Given the description of an element on the screen output the (x, y) to click on. 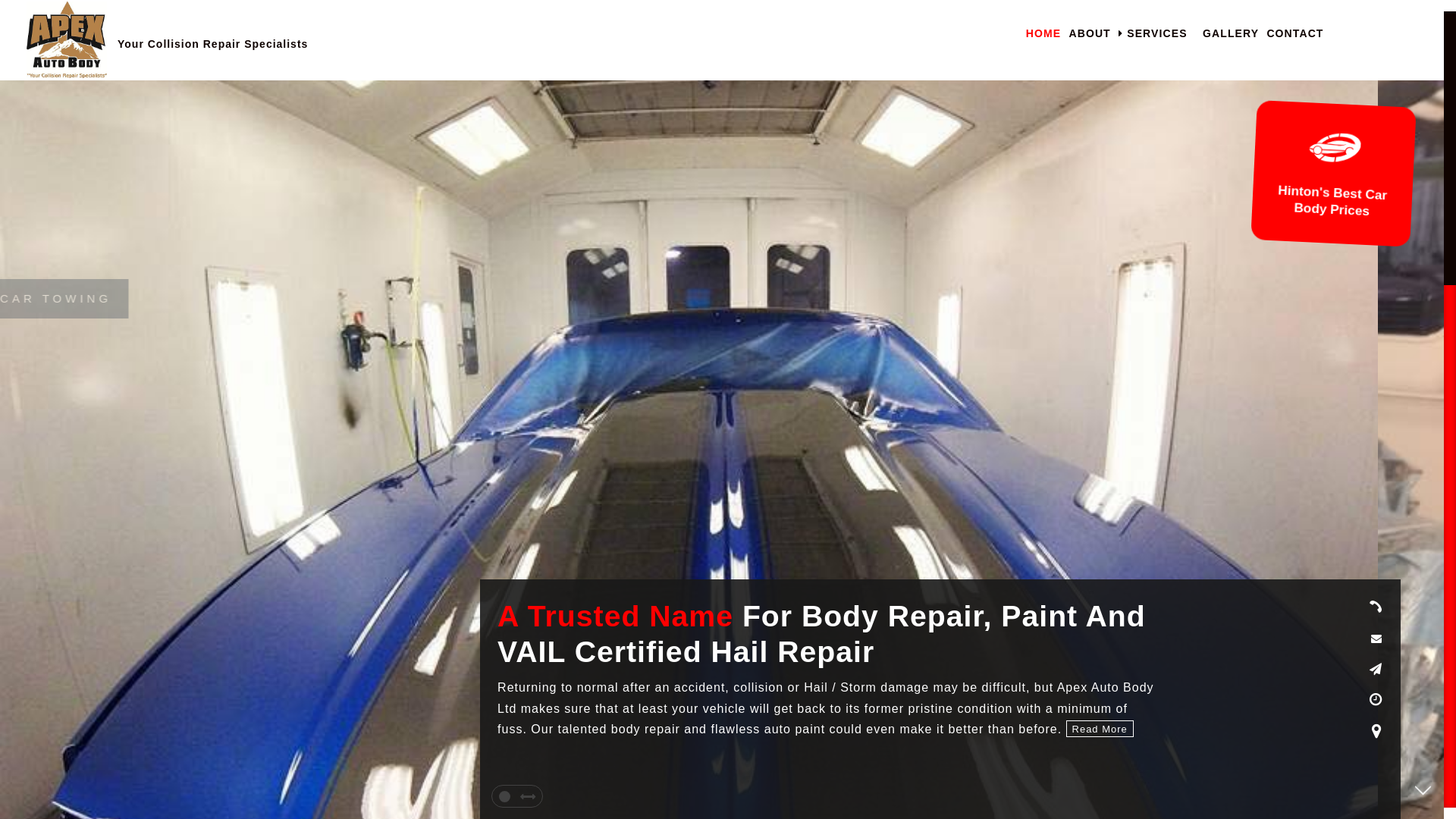
PAINT AND REFINISHING Element type: text (604, 298)
GALLERY Element type: text (1230, 33)
Read More Element type: text (1097, 728)
GLASS REPAIR AND REPLACEMENT Element type: text (649, 298)
CONTACT Element type: text (1294, 33)
 SERVICES Element type: text (1152, 33)
HOME Element type: text (1043, 33)
CAR TOWING Element type: text (552, 298)
ABOUT Element type: text (1089, 33)
BODY REPAIR Element type: text (556, 298)
